Given the description of an element on the screen output the (x, y) to click on. 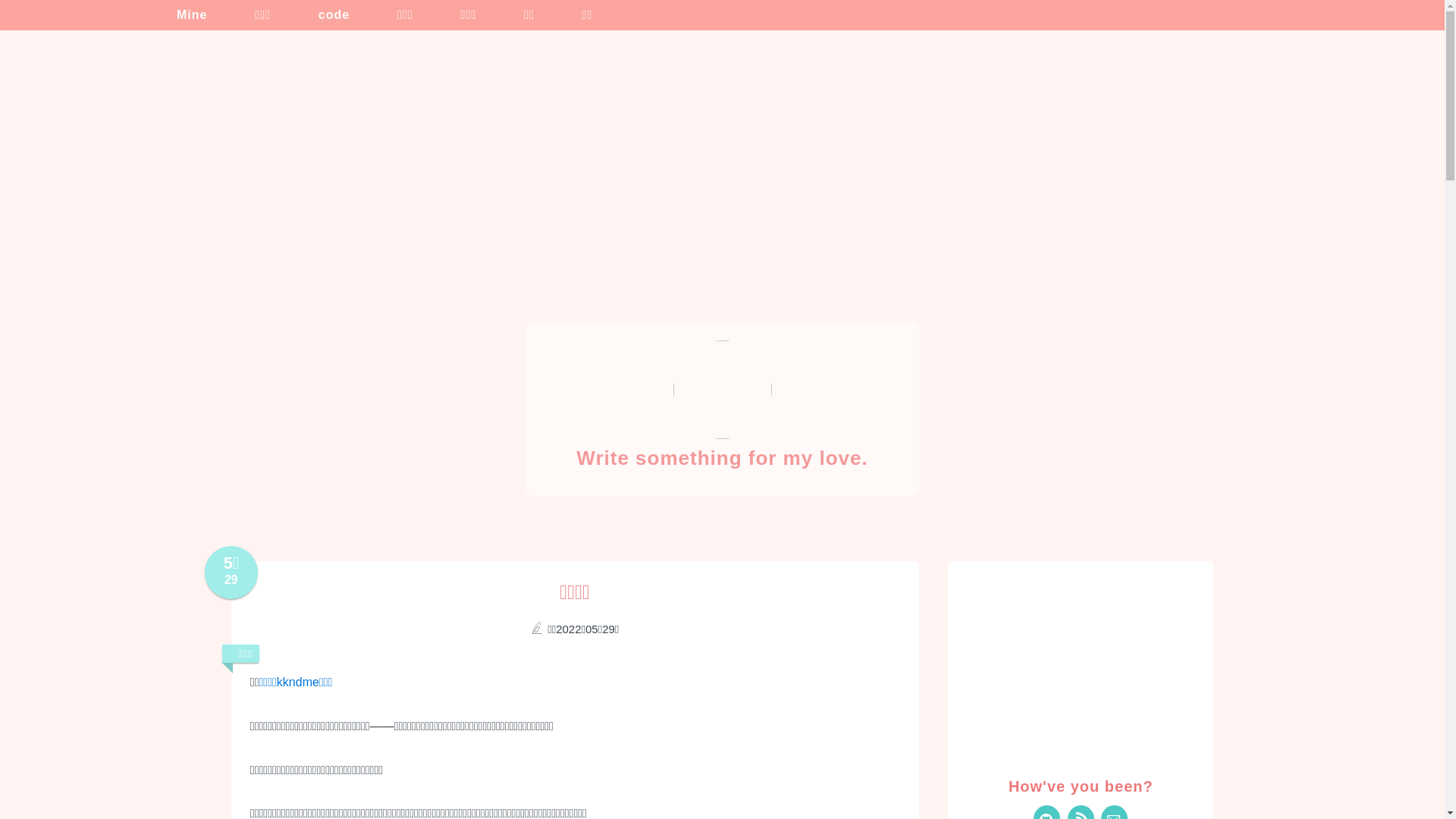
Mine Element type: text (181, 15)
